Given the description of an element on the screen output the (x, y) to click on. 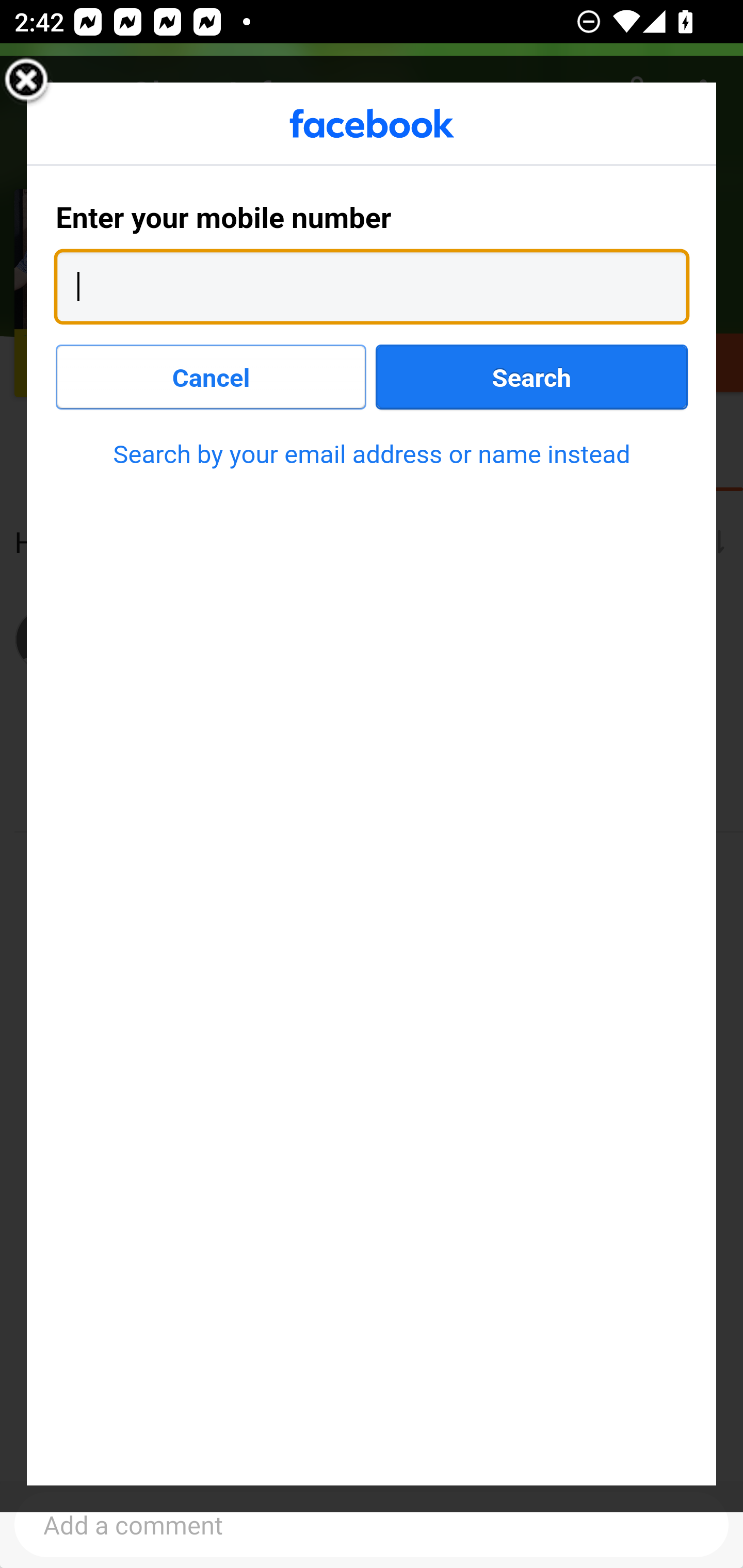
Facebook (372, 123)
Cancel (211, 375)
Search (531, 375)
Search by your email address or name instead (371, 453)
